Given the description of an element on the screen output the (x, y) to click on. 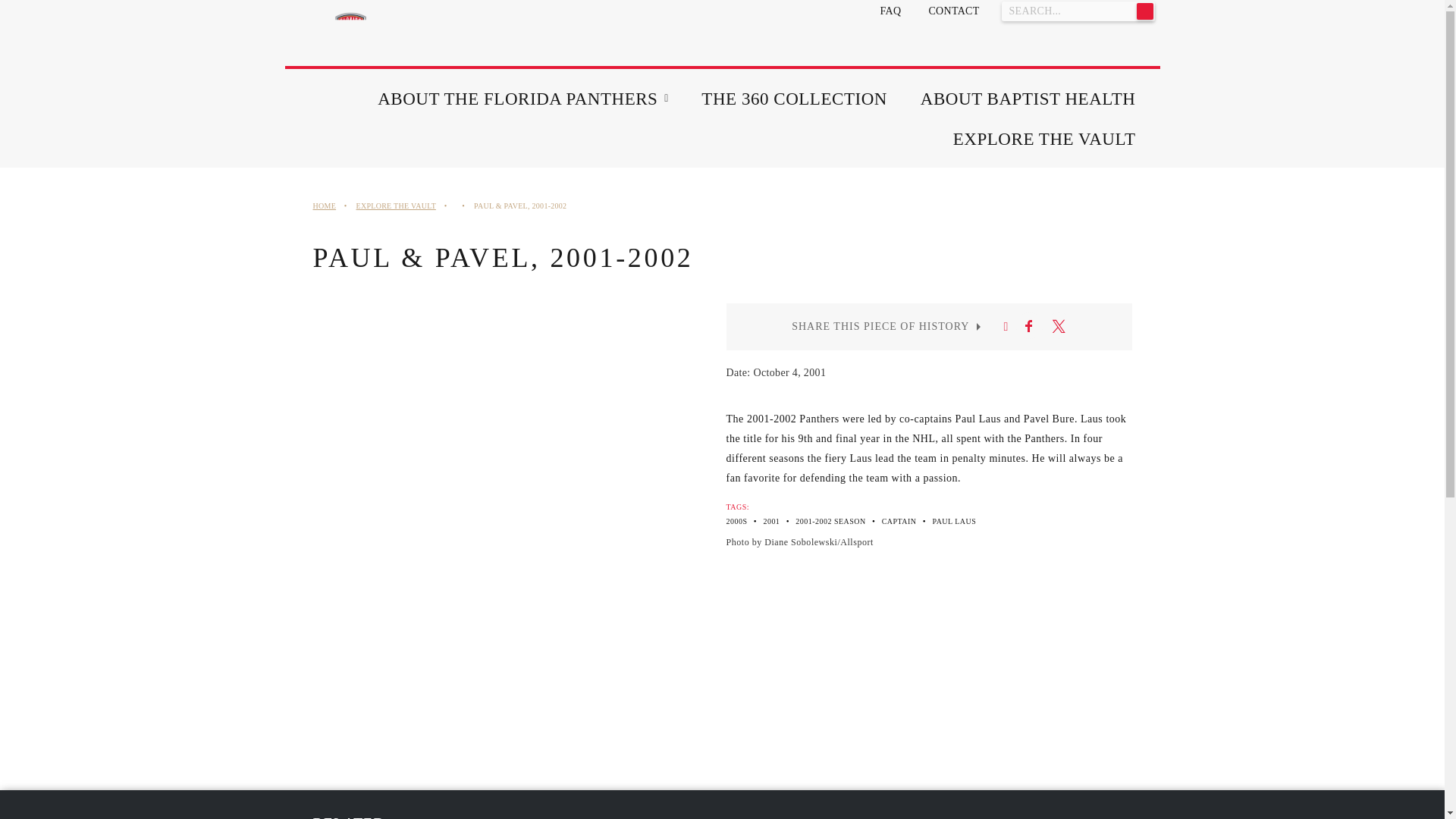
2001 (770, 520)
FAQ (890, 10)
2000S (737, 520)
CONTACT (953, 10)
ABOUT BAPTIST HEALTH (1027, 98)
HOME (324, 205)
THE 360 COLLECTION (793, 98)
CAPTAIN (899, 520)
2001-2002 SEASON (829, 520)
ABOUT THE FLORIDA PANTHERS (517, 98)
EXPLORE THE VAULT (1044, 138)
EXPLORE THE VAULT (395, 205)
PAUL LAUS (954, 520)
